Given the description of an element on the screen output the (x, y) to click on. 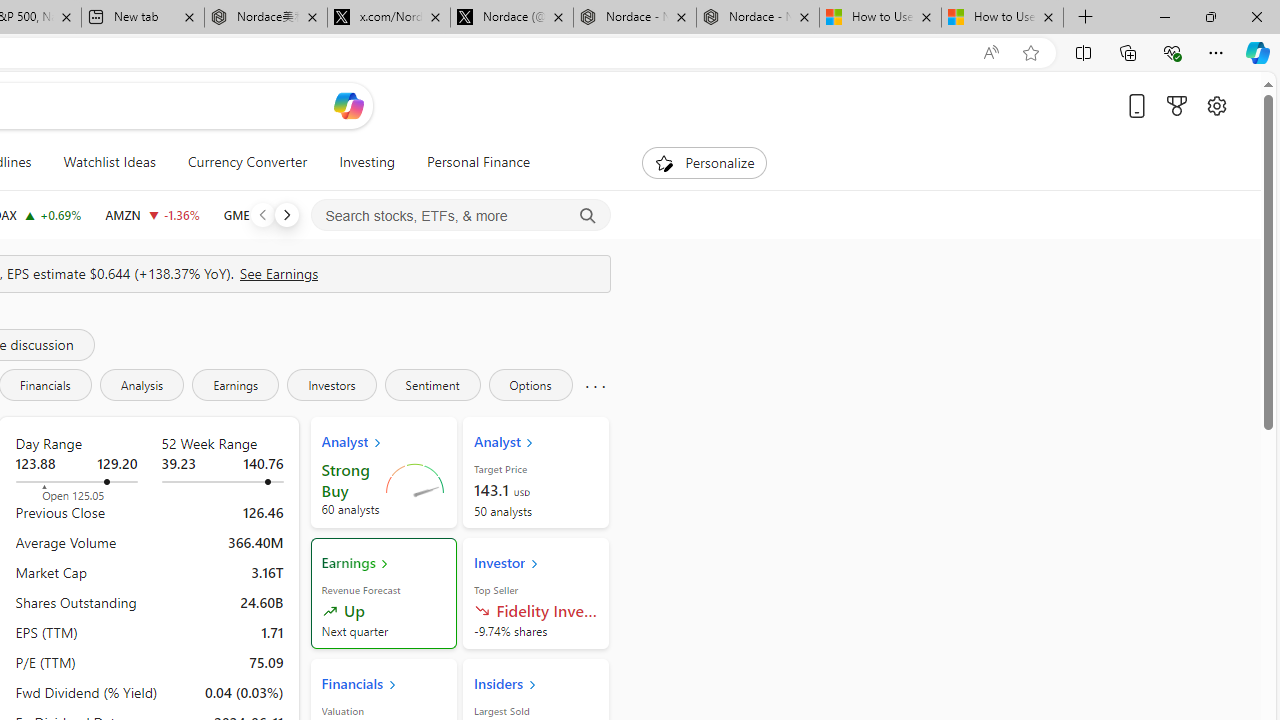
Watchlist Ideas (109, 162)
